Given the description of an element on the screen output the (x, y) to click on. 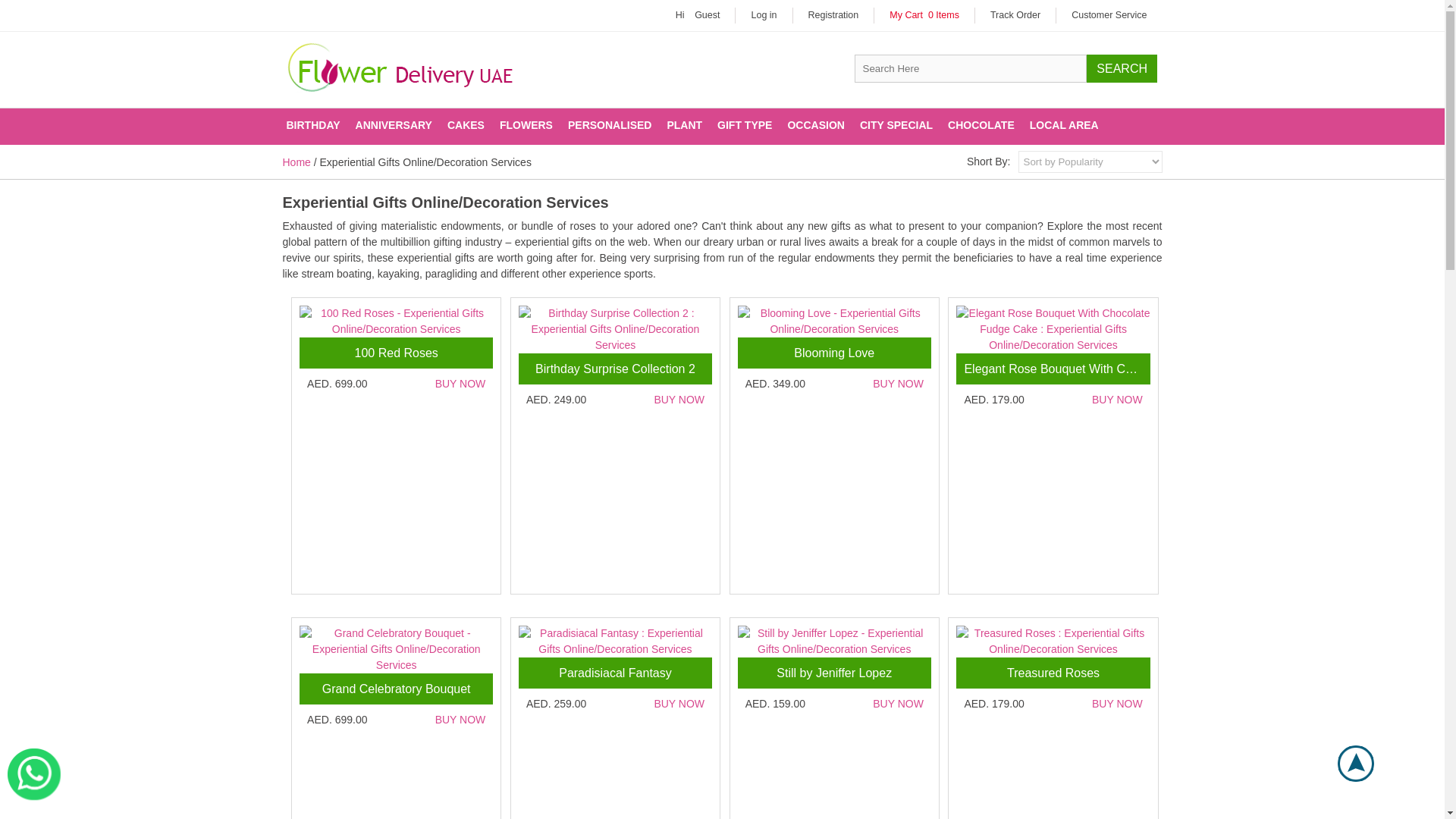
Search (1121, 68)
Log in (763, 15)
Grand Celebratory Bouquet (396, 649)
Track Order (1015, 15)
Blooming Love (834, 321)
BIRTHDAY (313, 126)
My Cart  0 Items (924, 15)
Elegant Rose Bouquet With Chocolate Fudge Cake (1053, 328)
Paradisiacal Fantasy (614, 641)
Search (1121, 68)
100 Red Roses (396, 321)
Registration (833, 15)
Birthday Surprise Collection 2 (614, 328)
Still by Jeniffer Lopez (834, 641)
Guest (706, 15)
